Given the description of an element on the screen output the (x, y) to click on. 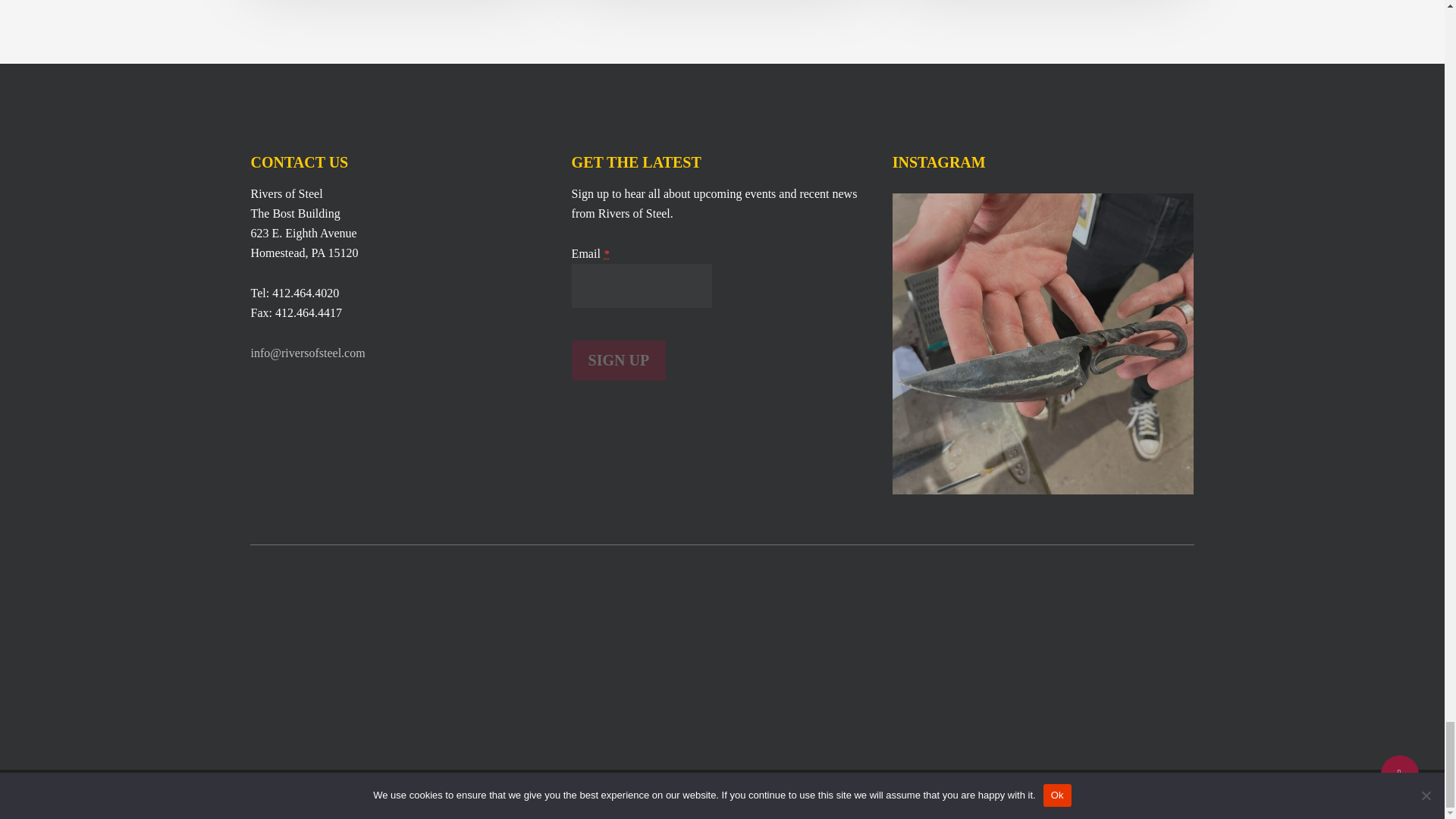
Sign up (619, 360)
